Given the description of an element on the screen output the (x, y) to click on. 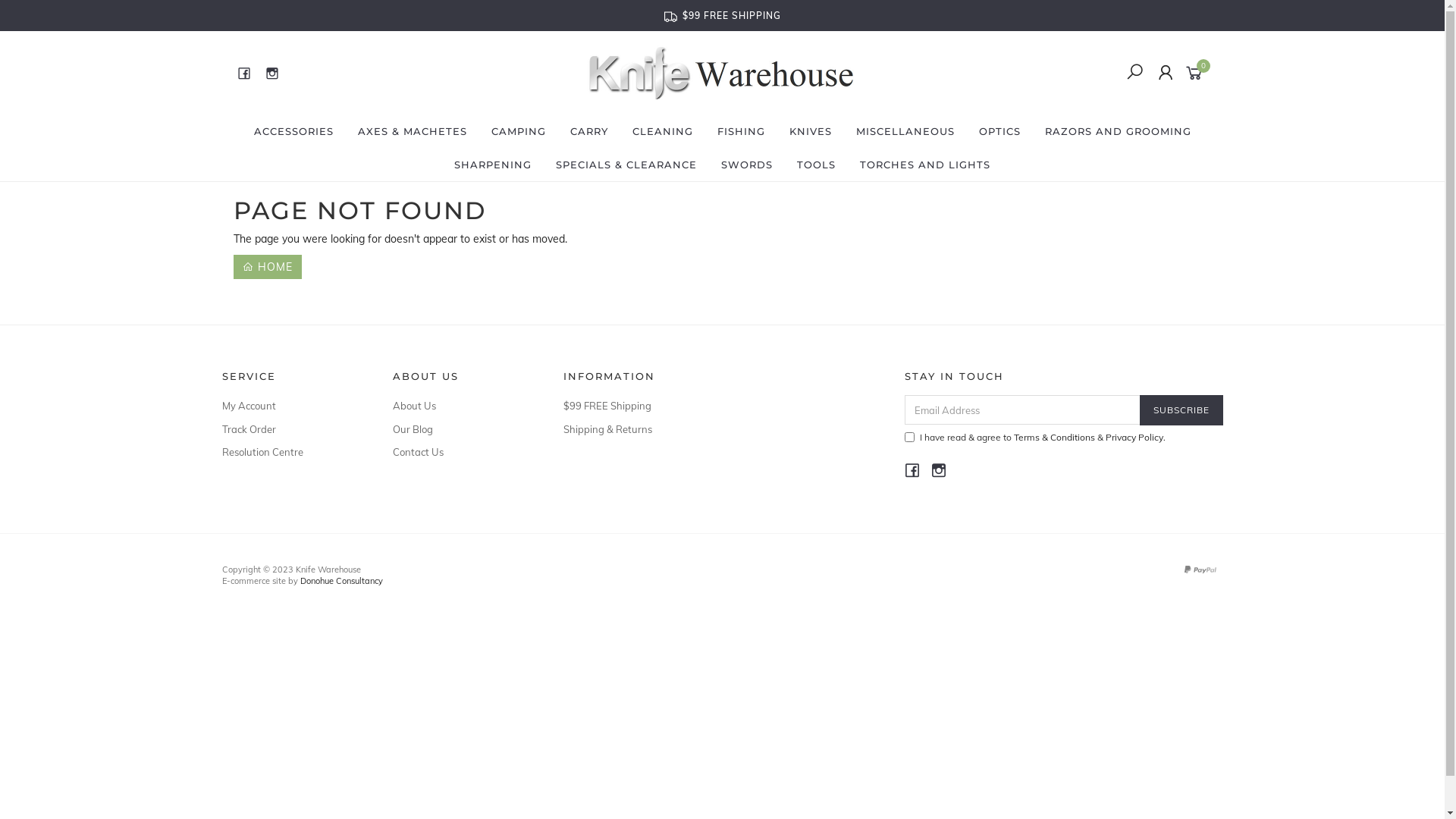
TOOLS Element type: text (816, 164)
Knife Warehouse Element type: hover (720, 71)
TORCHES AND LIGHTS Element type: text (924, 164)
CLEANING Element type: text (662, 130)
MISCELLANEOUS Element type: text (904, 130)
$99 FREE Shipping Element type: text (630, 405)
ACCESSORIES Element type: text (292, 130)
CAMPING Element type: text (518, 130)
OPTICS Element type: text (998, 130)
RAZORS AND GROOMING Element type: text (1117, 130)
Shipping & Returns Element type: text (630, 428)
0 Element type: text (1196, 71)
CARRY Element type: text (588, 130)
$99 FREE SHIPPING Element type: text (722, 15)
KNIVES Element type: text (809, 130)
Subscribe Element type: text (1180, 409)
Contact Us Element type: text (460, 451)
Resolution Centre Element type: text (289, 451)
Our Blog Element type: text (460, 428)
Track Order Element type: text (289, 428)
Privacy Policy Element type: text (1134, 436)
AXES & MACHETES Element type: text (412, 130)
SWORDS Element type: text (746, 164)
FISHING Element type: text (740, 130)
SPECIALS & CLEARANCE Element type: text (626, 164)
Donohue Consultancy Element type: text (341, 580)
My Account Element type: text (289, 405)
SHARPENING Element type: text (492, 164)
About Us Element type: text (460, 405)
HOME Element type: text (267, 266)
Terms & Conditions Element type: text (1053, 436)
